Given the description of an element on the screen output the (x, y) to click on. 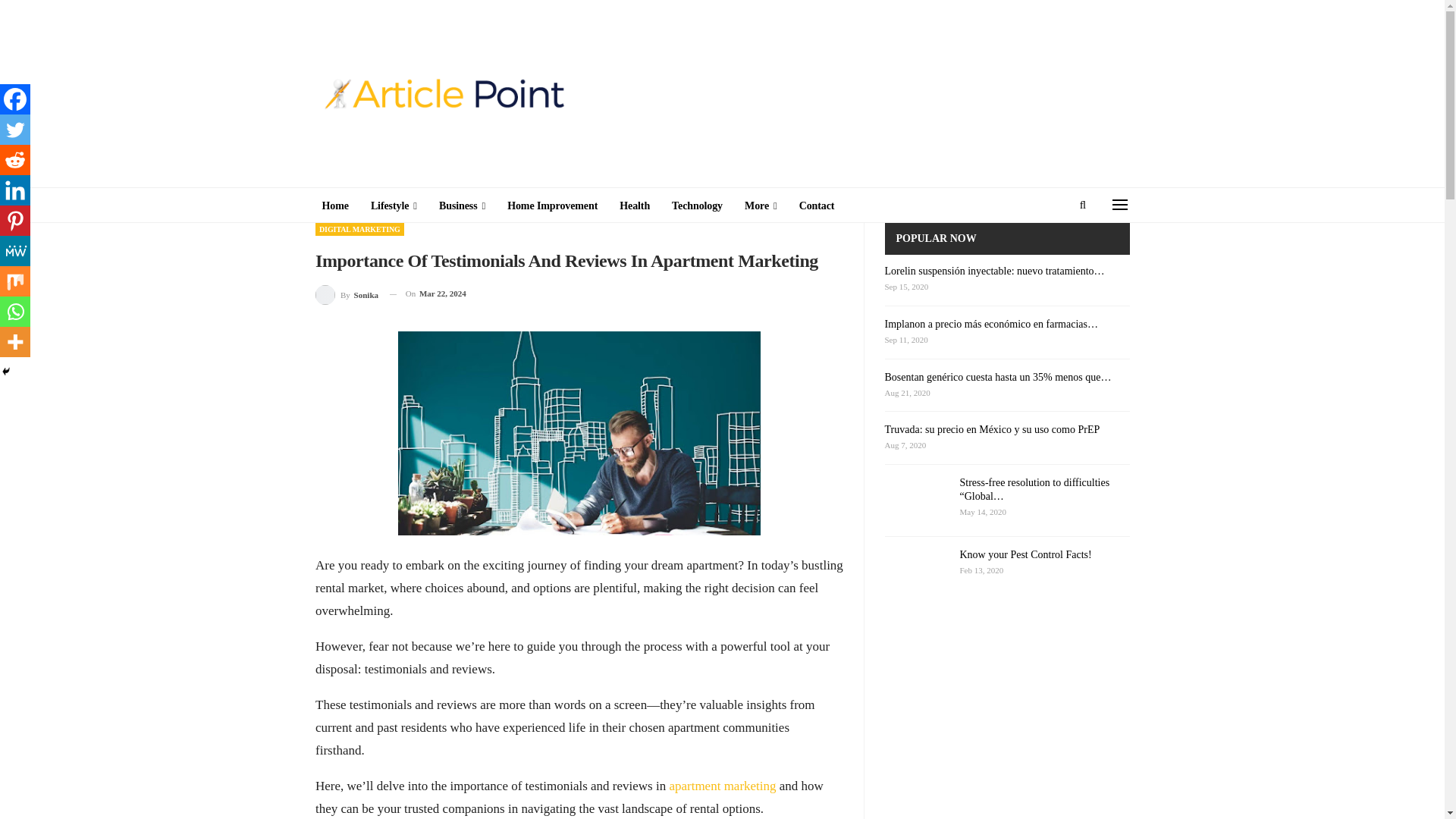
Advertisement (1200, 450)
More (760, 206)
Technology (697, 206)
Facebook (15, 99)
Advertisement (244, 450)
Health (634, 206)
Home (334, 206)
Browse Author Articles (346, 293)
Home Improvement (552, 206)
DIGITAL MARKETING (359, 228)
Twitter (15, 129)
Contact (817, 206)
Lifestyle (393, 206)
Business (462, 206)
By Sonika (346, 293)
